Given the description of an element on the screen output the (x, y) to click on. 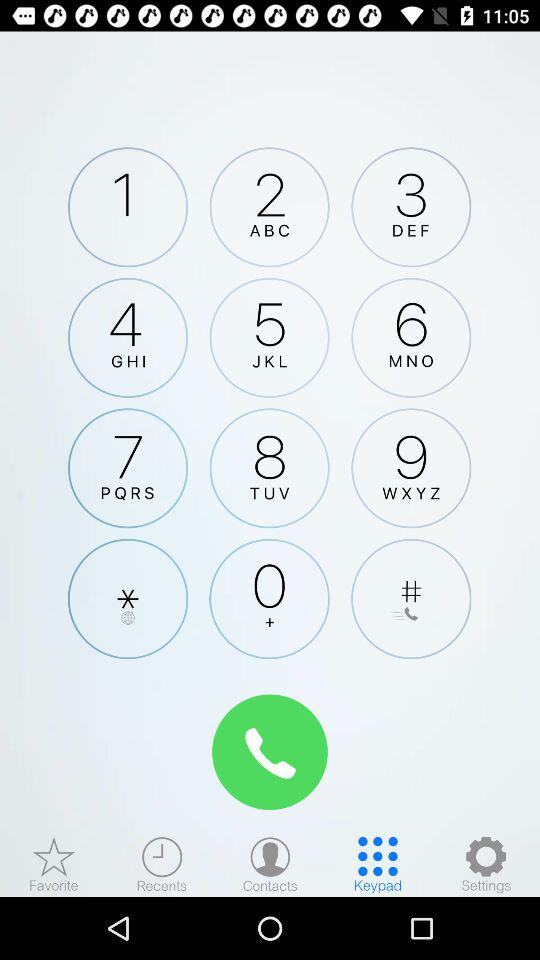
4 button (127, 337)
